Given the description of an element on the screen output the (x, y) to click on. 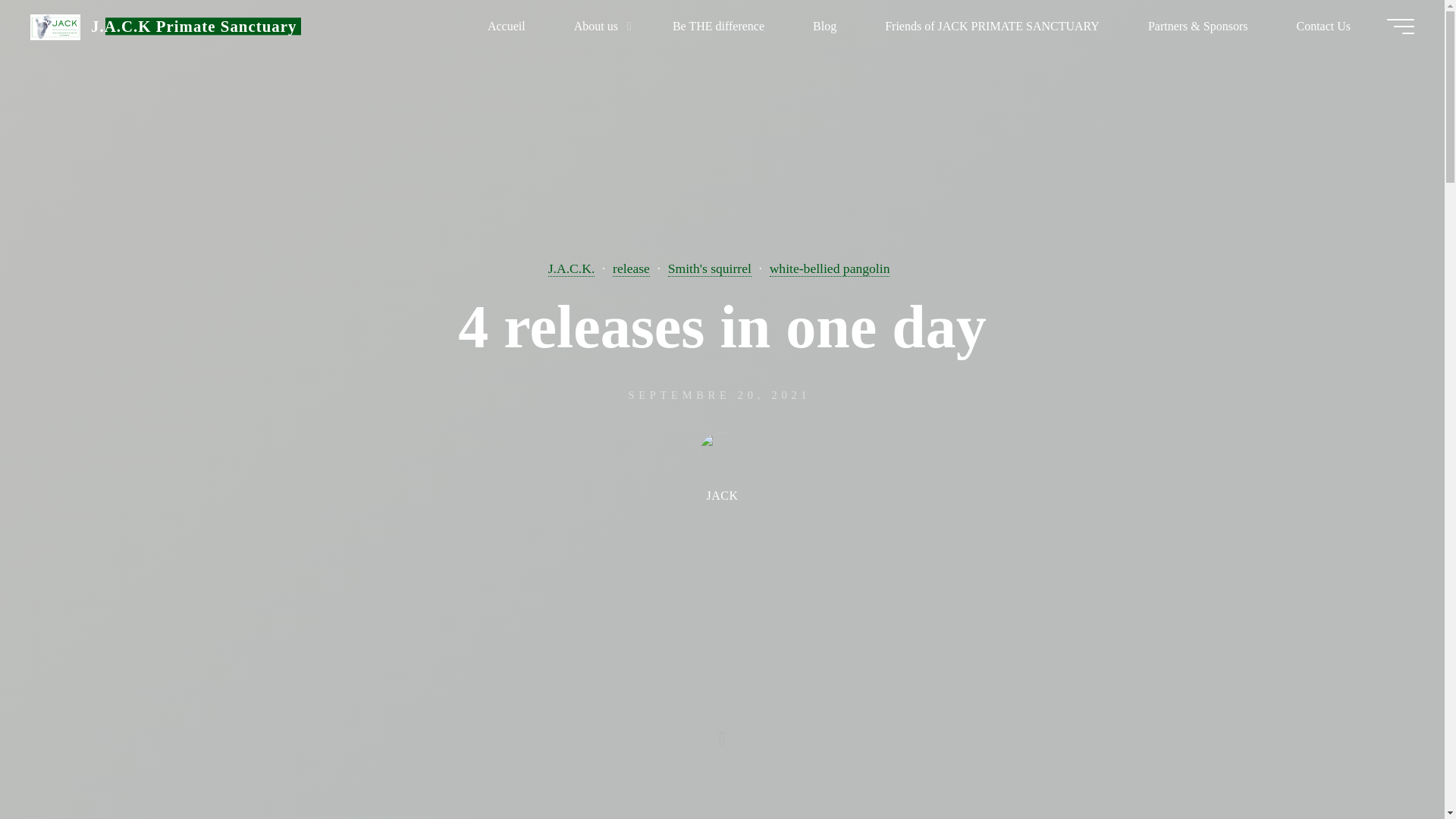
Friends of JACK PRIMATE SANCTUARY (992, 26)
One of the last bastions before extinction (193, 26)
Be THE difference (718, 26)
J.A.C.K. (571, 268)
About us (598, 26)
Contact Us (1322, 26)
Blog (824, 26)
Accueil (506, 26)
Smith's squirrel (709, 268)
white-bellied pangolin (829, 268)
J.A.C.K Primate Sanctuary (193, 26)
J.A.C.K Primate Sanctuary (55, 25)
release (630, 268)
Lire la suite (721, 724)
